Given the description of an element on the screen output the (x, y) to click on. 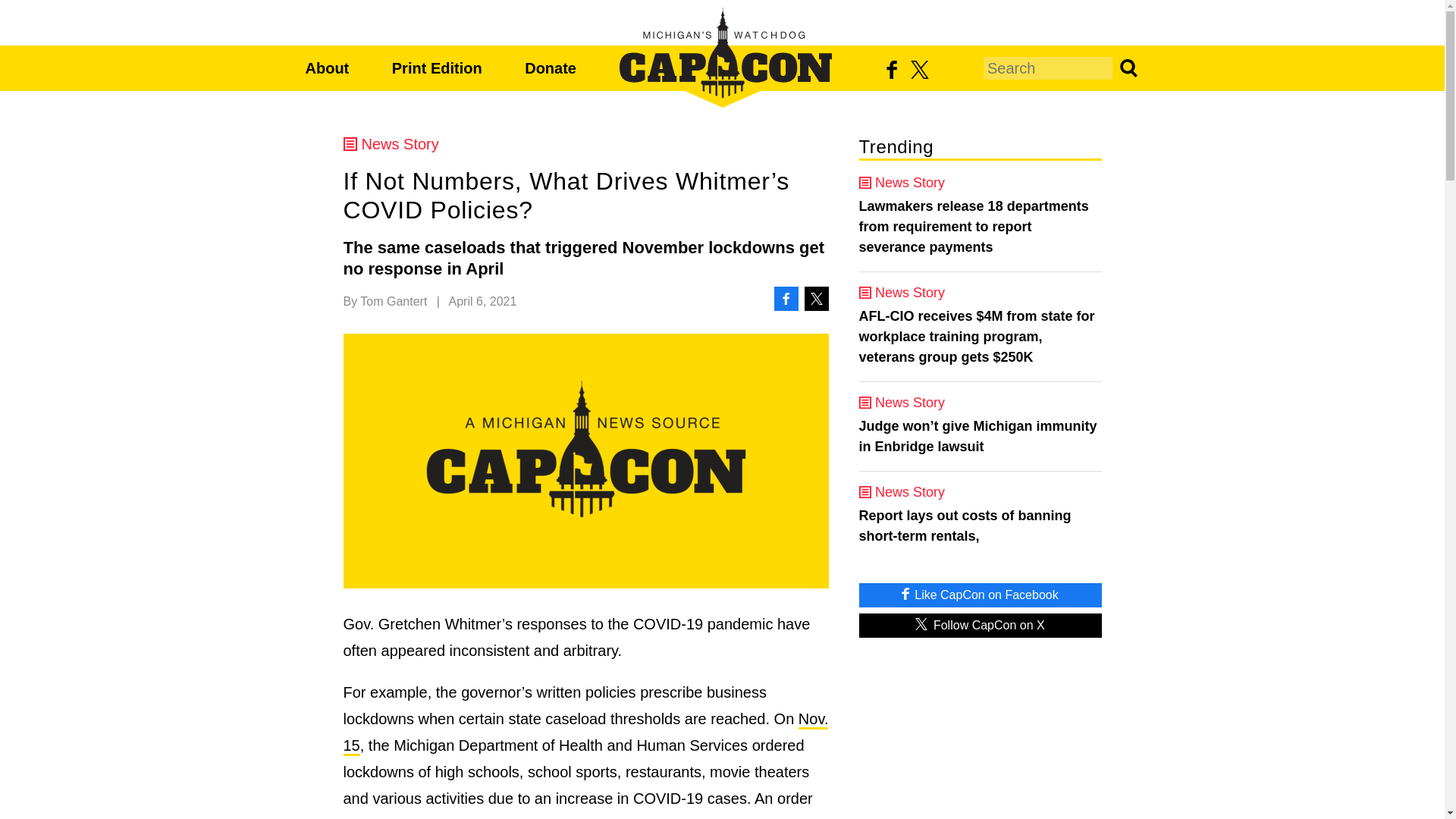
Print Edition (436, 67)
Report lays out costs of banning short-term rentals, (979, 526)
Donate (550, 67)
News Story (979, 491)
Follow CapCon on X (979, 625)
News Story (585, 143)
News Story (979, 402)
About (326, 67)
Search (1127, 67)
Tom Gantert (392, 300)
Nov. 15 (585, 732)
Like CapCon on Facebook (979, 595)
News Story (979, 292)
News Story (979, 182)
